Given the description of an element on the screen output the (x, y) to click on. 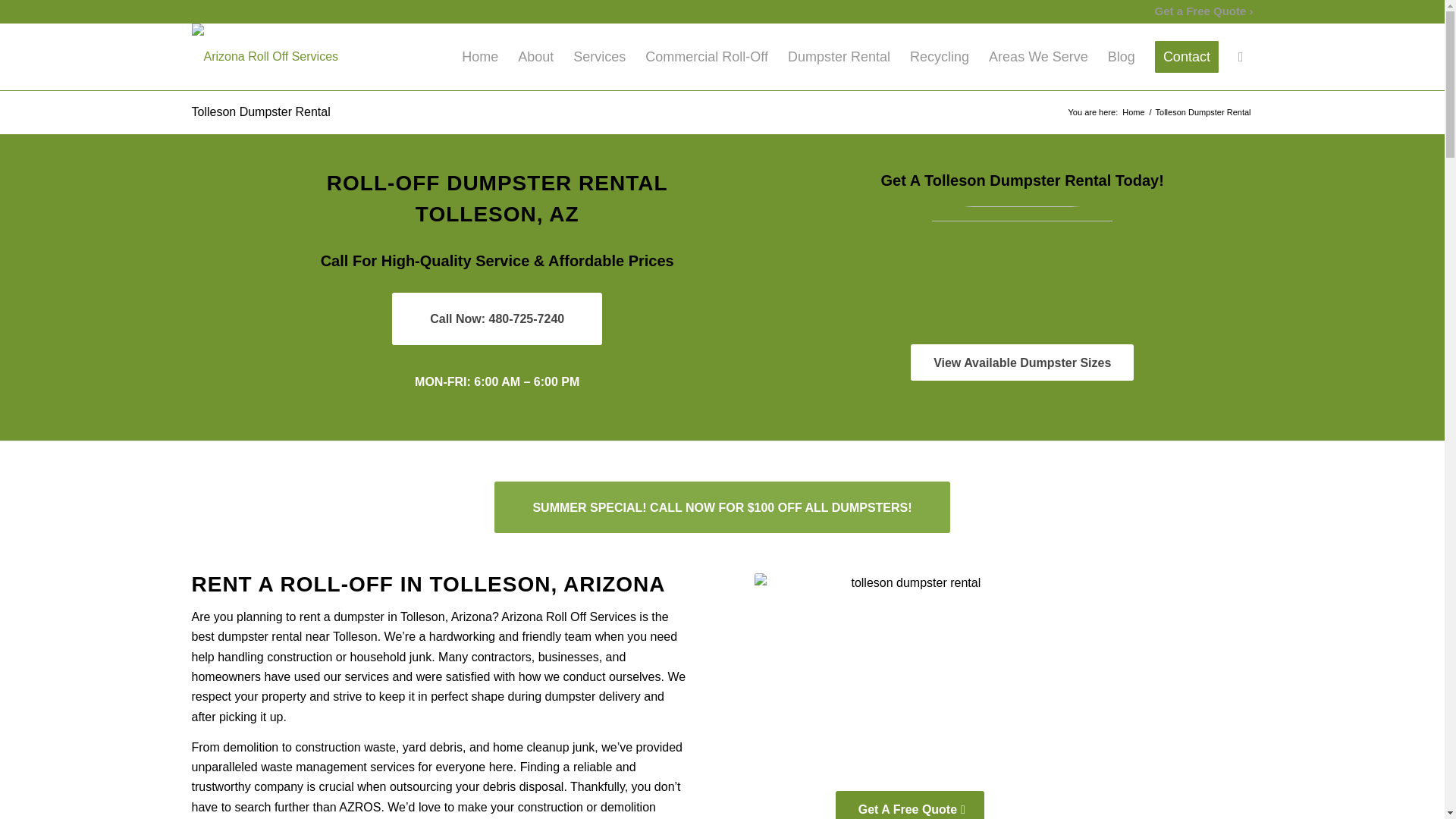
Get A Free Quote (909, 805)
Arizona Roll Off Services (1133, 112)
View Available Dumpster Sizes (1022, 361)
Commercial Roll-Off (705, 56)
Contact (1186, 56)
Permanent Link: Tolleson Dumpster Rental (260, 111)
Home (479, 56)
Recycling (938, 56)
About (535, 56)
Call Now: 480-725-7240 (496, 317)
Areas We Serve (1037, 56)
Dumpster Rental (838, 56)
Services (598, 56)
dumpster-2 (1021, 270)
Blog (1120, 56)
